Given the description of an element on the screen output the (x, y) to click on. 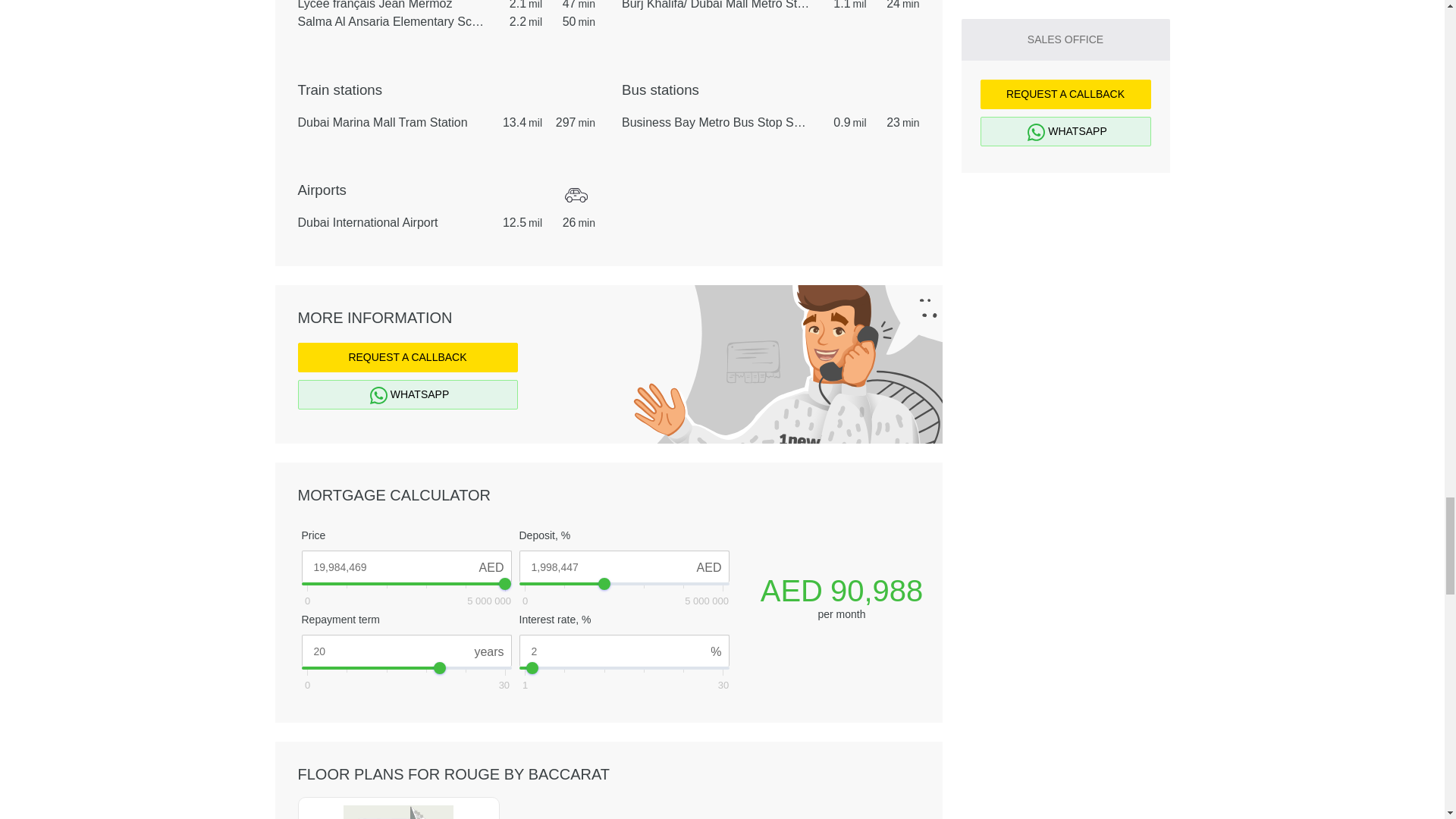
2 (623, 650)
20 (406, 650)
19,984,469 (406, 566)
1,998,447 (623, 566)
